Given the description of an element on the screen output the (x, y) to click on. 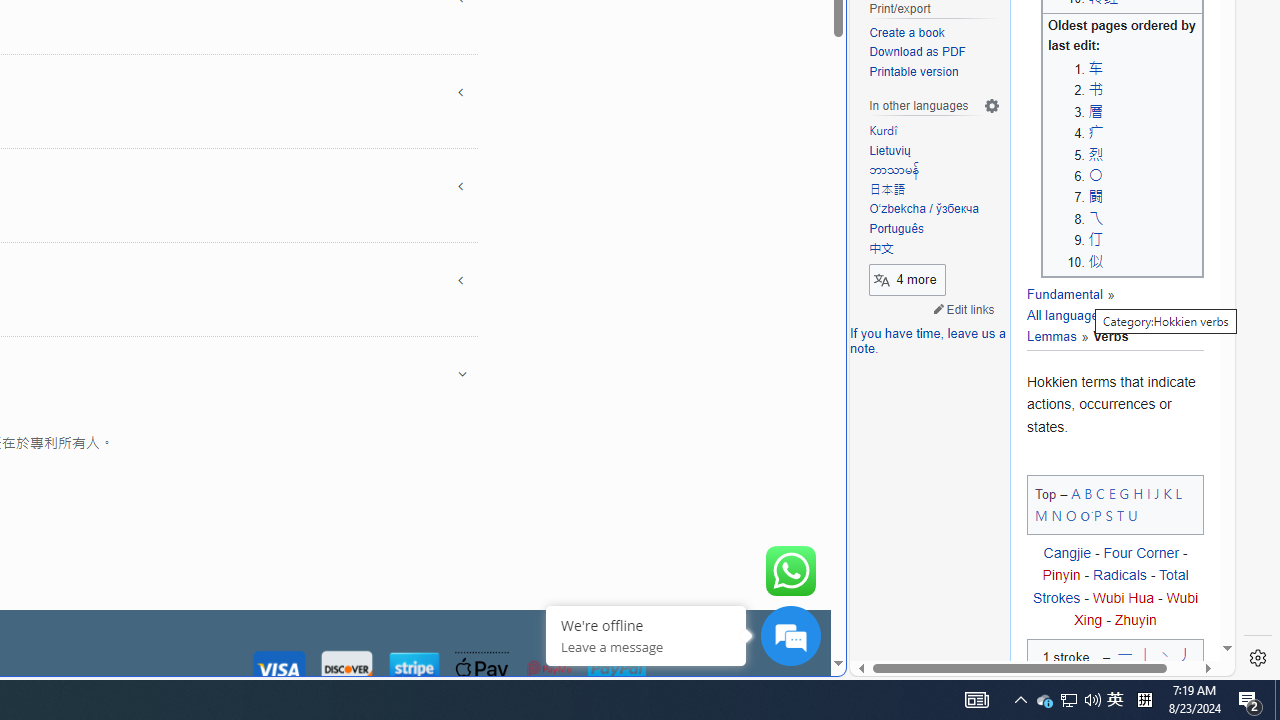
Edit links (964, 308)
Wubi Xing (1136, 608)
Wubi Hua (1122, 597)
H (1138, 492)
